Given the description of an element on the screen output the (x, y) to click on. 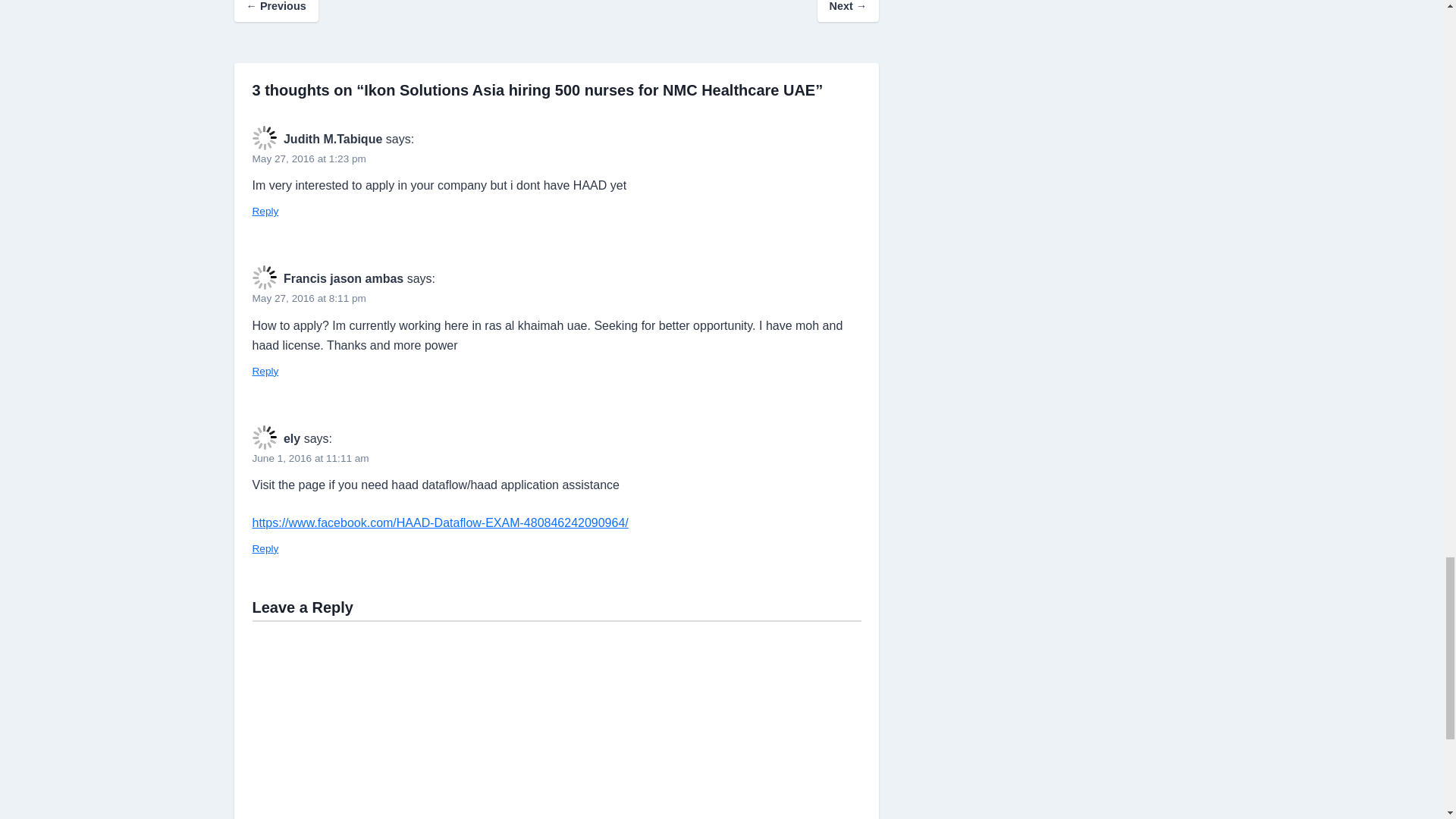
Comment Form (555, 719)
Reply (264, 370)
May 27, 2016 at 1:23 pm (308, 158)
May 27, 2016 at 8:11 pm (308, 297)
Reply (264, 548)
Reply (264, 211)
June 1, 2016 at 11:11 am (309, 457)
